Given the description of an element on the screen output the (x, y) to click on. 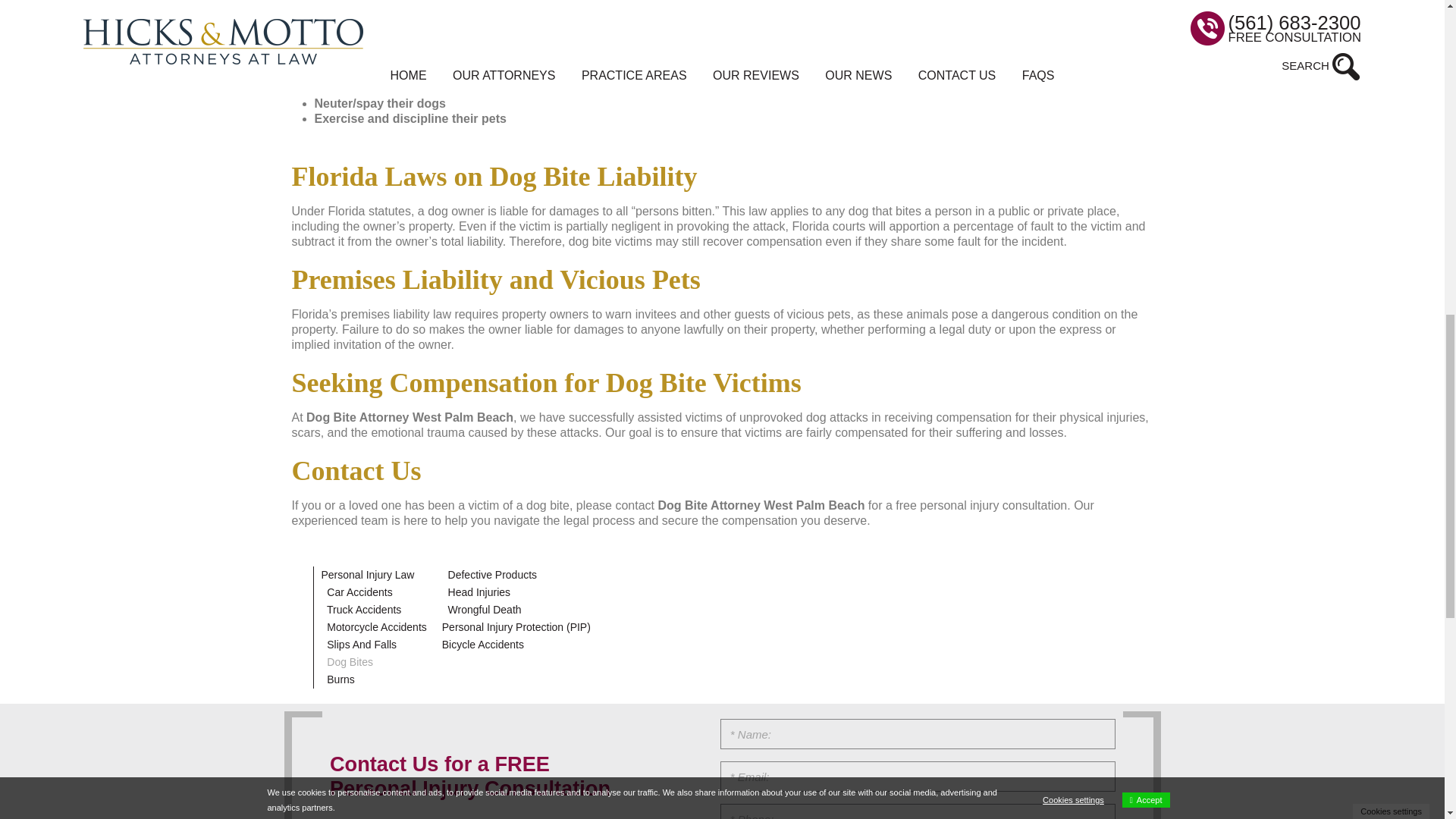
Motorcycle Accidents (376, 626)
Burns (340, 679)
Slips And Falls (361, 644)
Personal Injury Law (367, 574)
Car Accidents (358, 592)
Wrongful Death (484, 609)
Head Injuries (479, 592)
Truck Accidents (363, 609)
Defective Products (492, 574)
Dog Bites (349, 662)
